Given the description of an element on the screen output the (x, y) to click on. 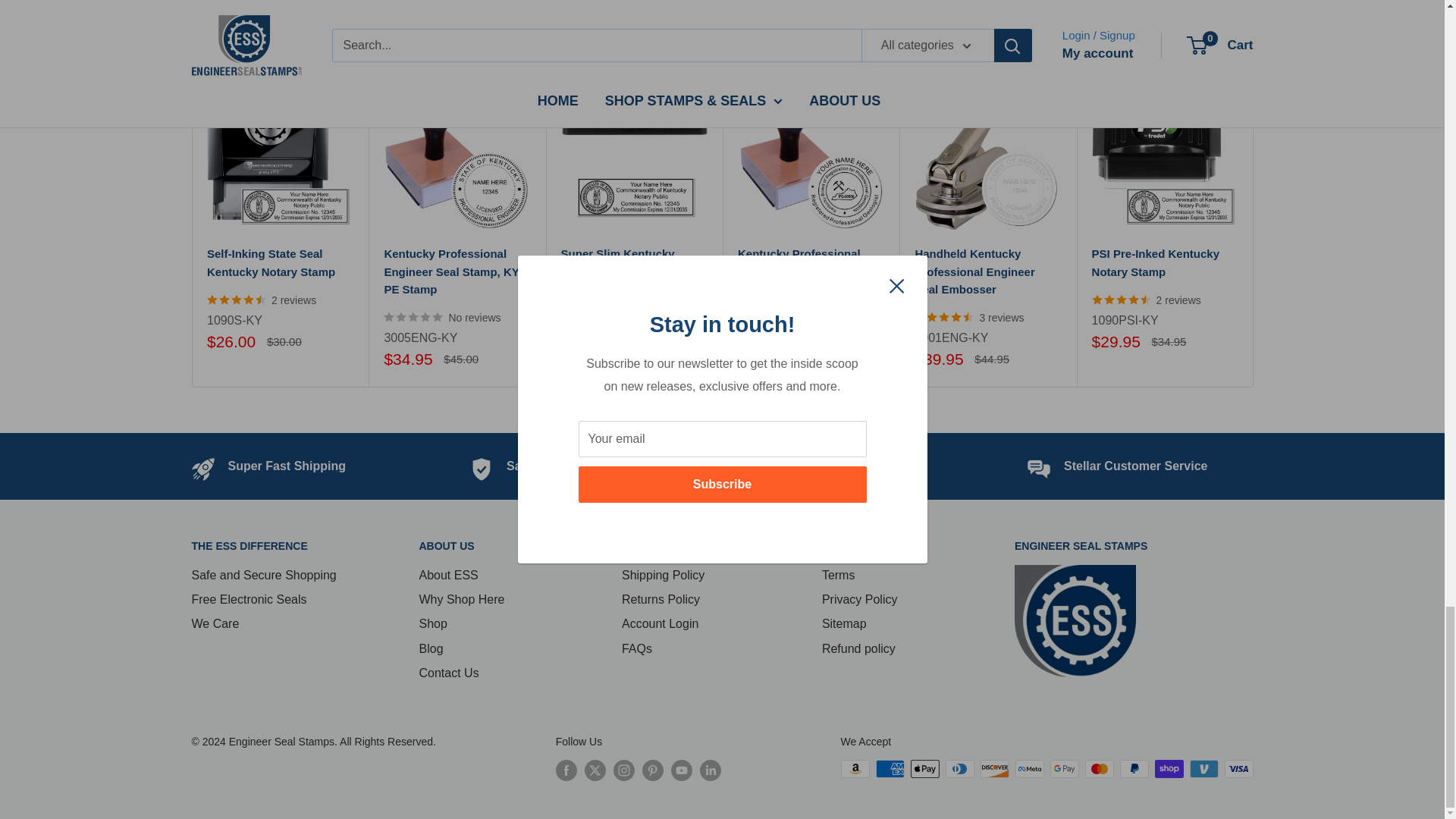
Safe and Secure Shopping (583, 465)
Super-Fast Shipping (286, 465)
Contact Us (1135, 465)
Free Electronic Seals (847, 465)
